Given the description of an element on the screen output the (x, y) to click on. 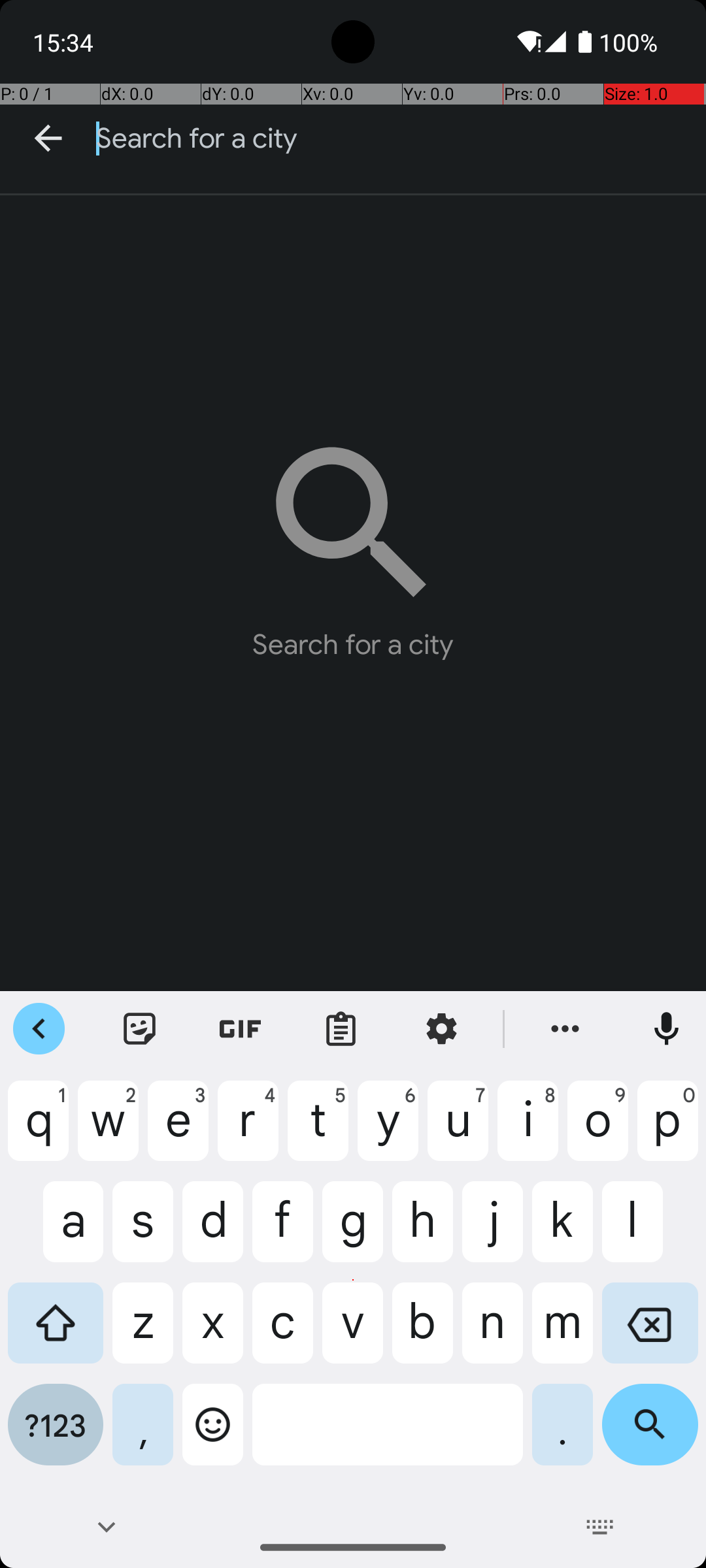
Search for a city Element type: android.widget.EditText (401, 138)
